Given the description of an element on the screen output the (x, y) to click on. 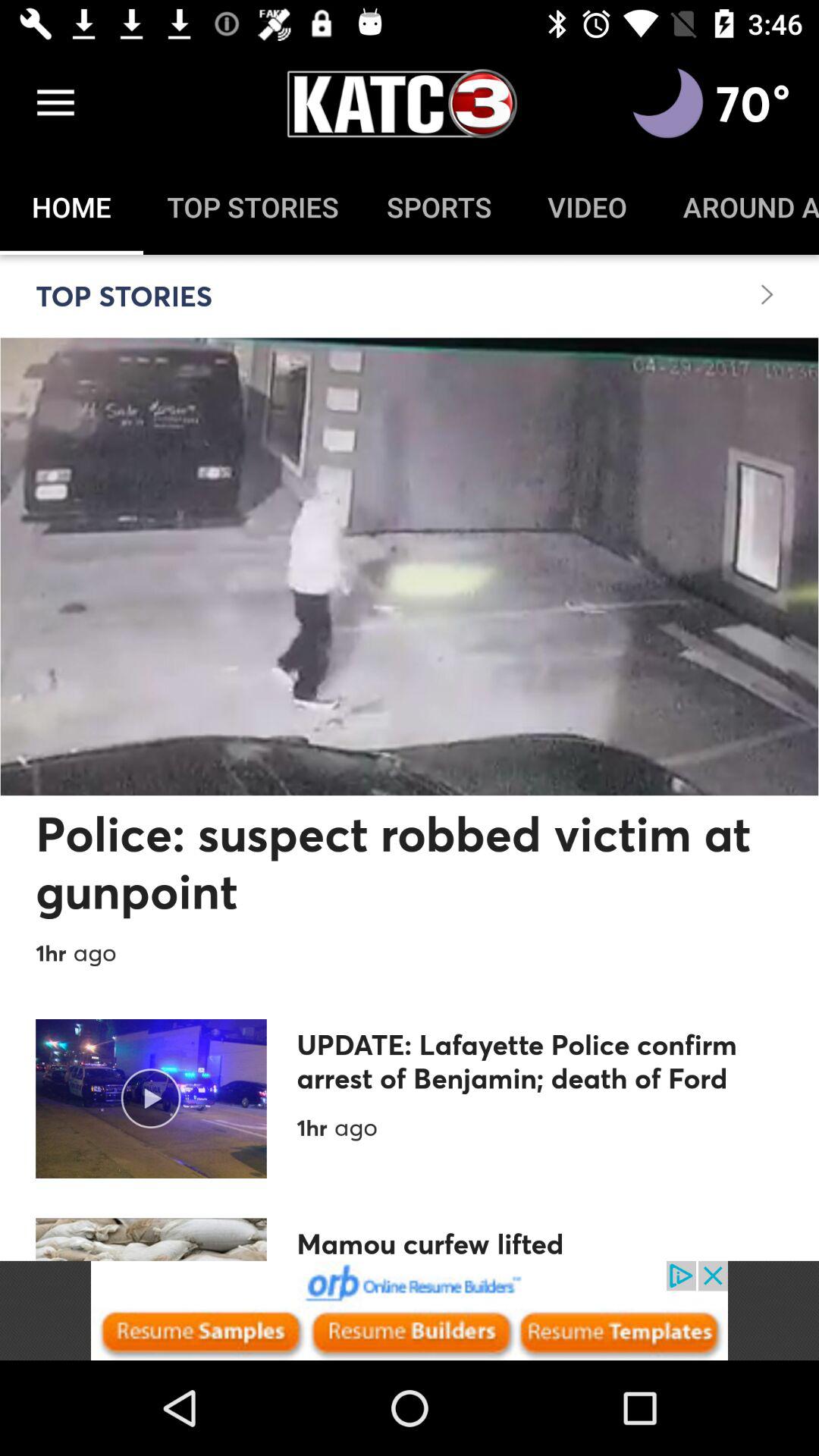
go to advertisement link (409, 1310)
